Given the description of an element on the screen output the (x, y) to click on. 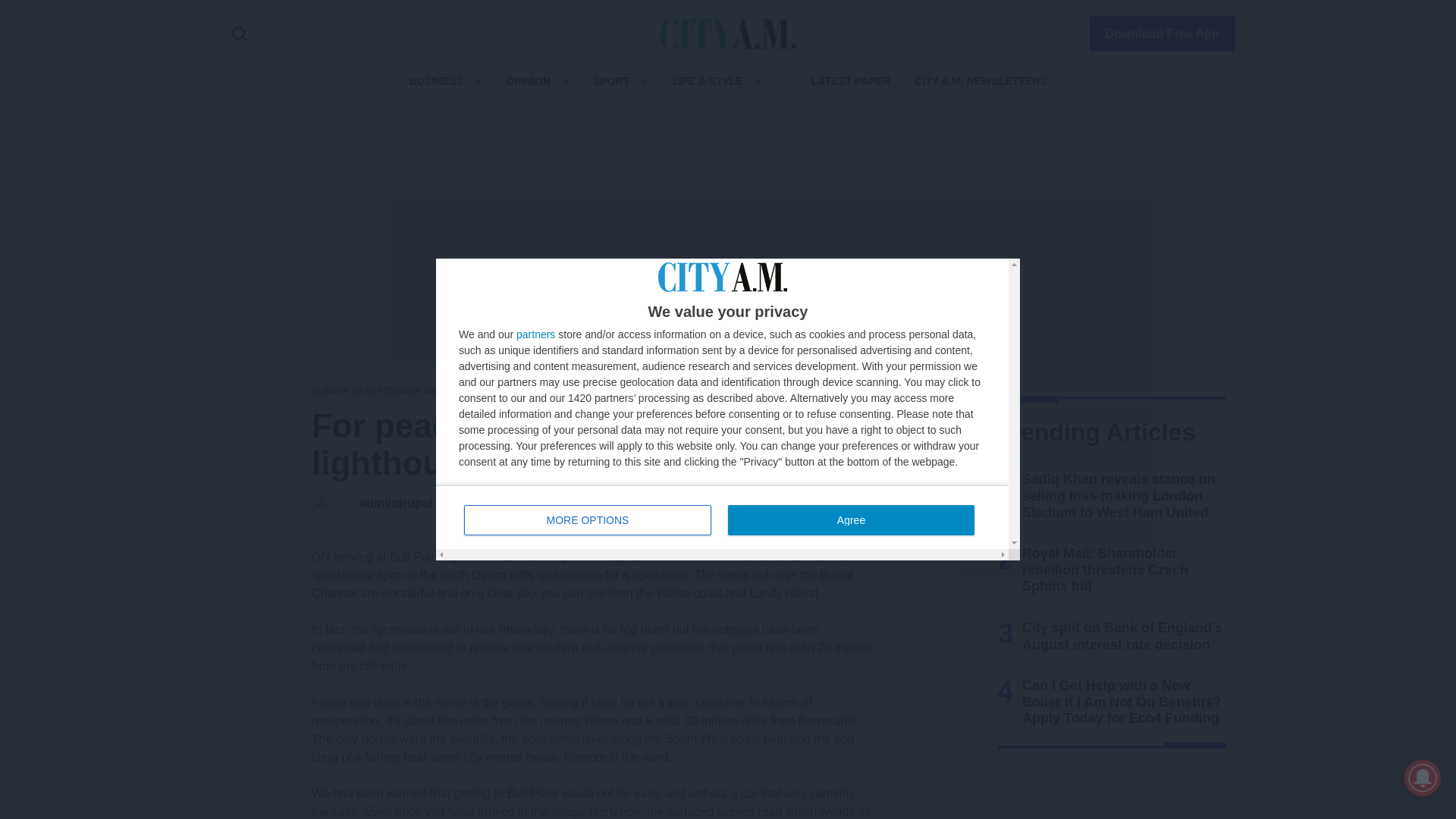
BUSINESS (436, 80)
CityAM (727, 33)
Agree (722, 516)
MORE OPTIONS (851, 520)
partners (587, 520)
OPINION (535, 334)
Download Free App (527, 80)
